Given the description of an element on the screen output the (x, y) to click on. 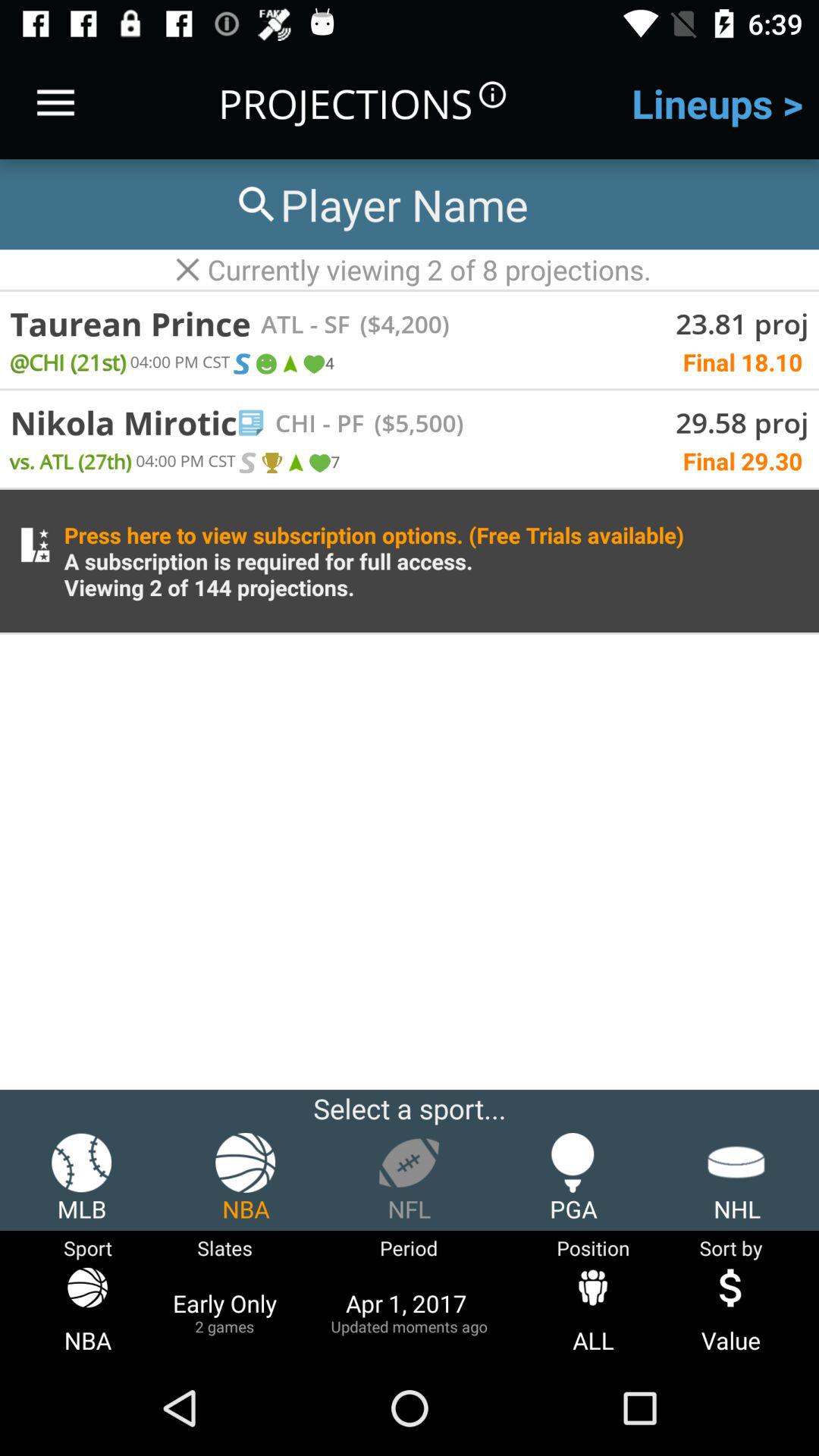
move to the fourth icon which is under taurean prince (313, 363)
select the arrow icon next to smiley (289, 363)
